Given the description of an element on the screen output the (x, y) to click on. 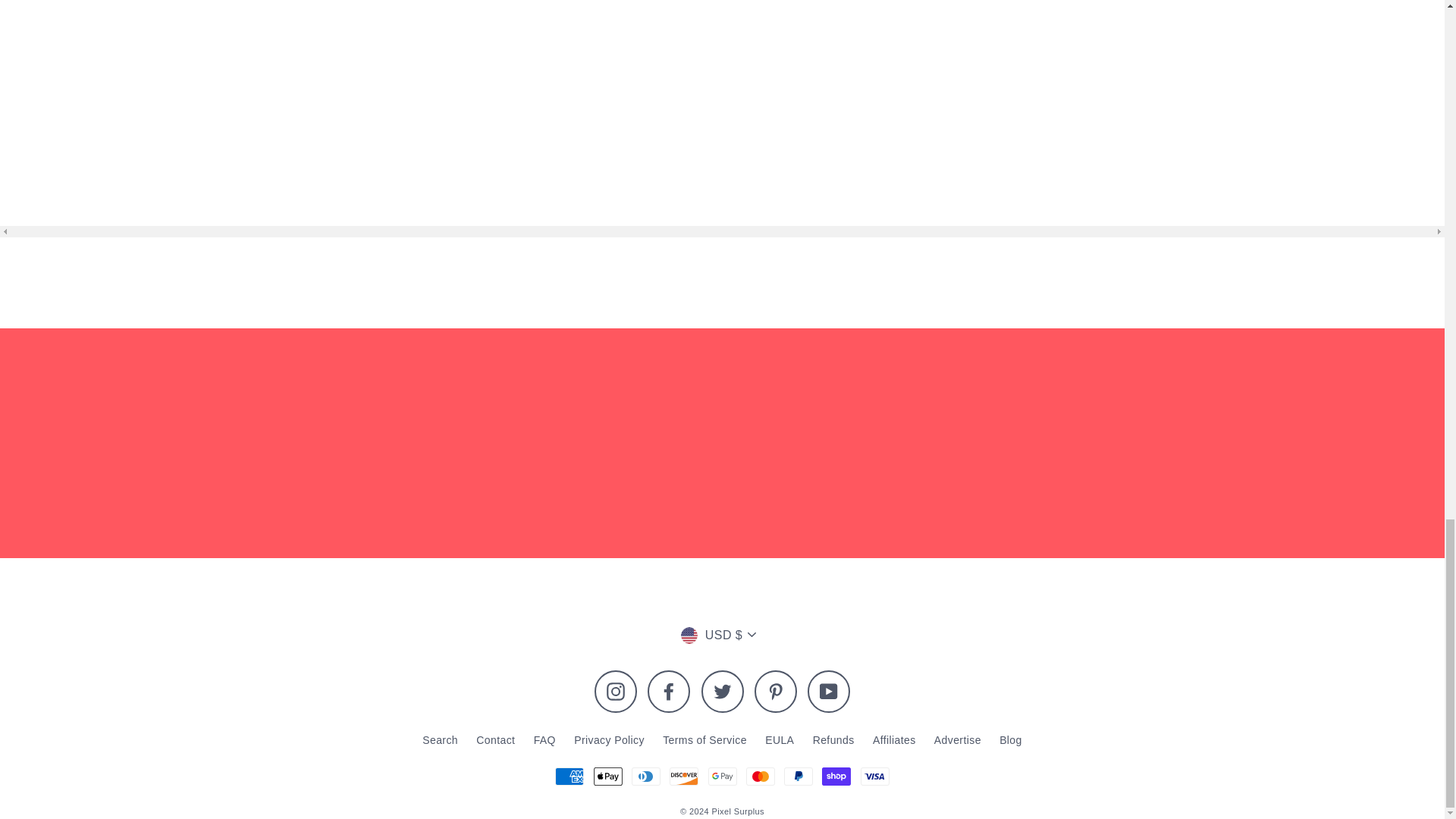
Pixel Surplus on Instagram (615, 691)
Google Pay (721, 776)
Pixel Surplus on Facebook (668, 691)
Pixel Surplus on YouTube (829, 691)
Discover (683, 776)
Shop Pay (836, 776)
Diners Club (646, 776)
Mastercard (759, 776)
PayPal (798, 776)
Pixel Surplus on Twitter (721, 691)
